Given the description of an element on the screen output the (x, y) to click on. 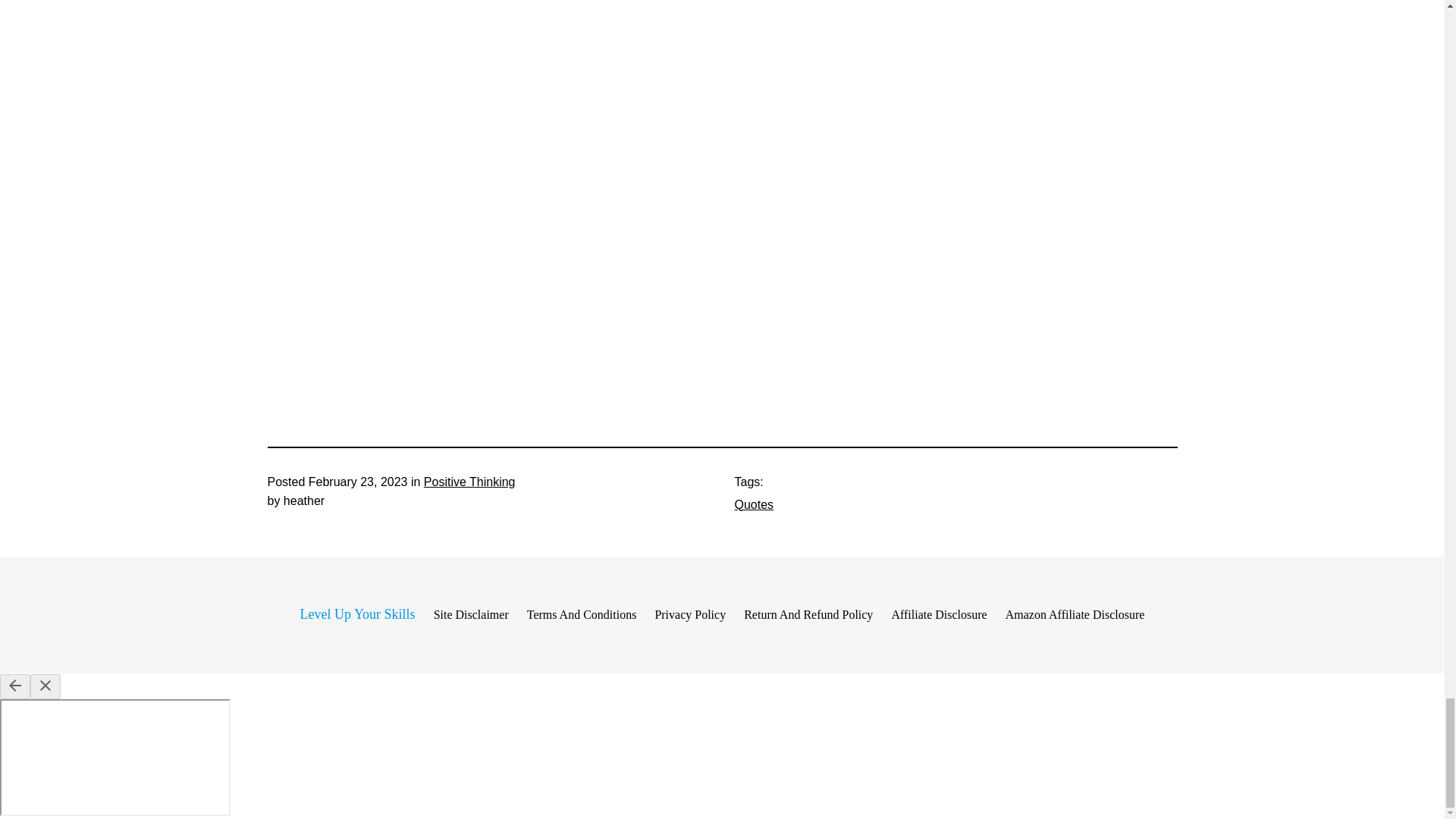
Positive Thinking (469, 481)
Quotes (753, 504)
